Given the description of an element on the screen output the (x, y) to click on. 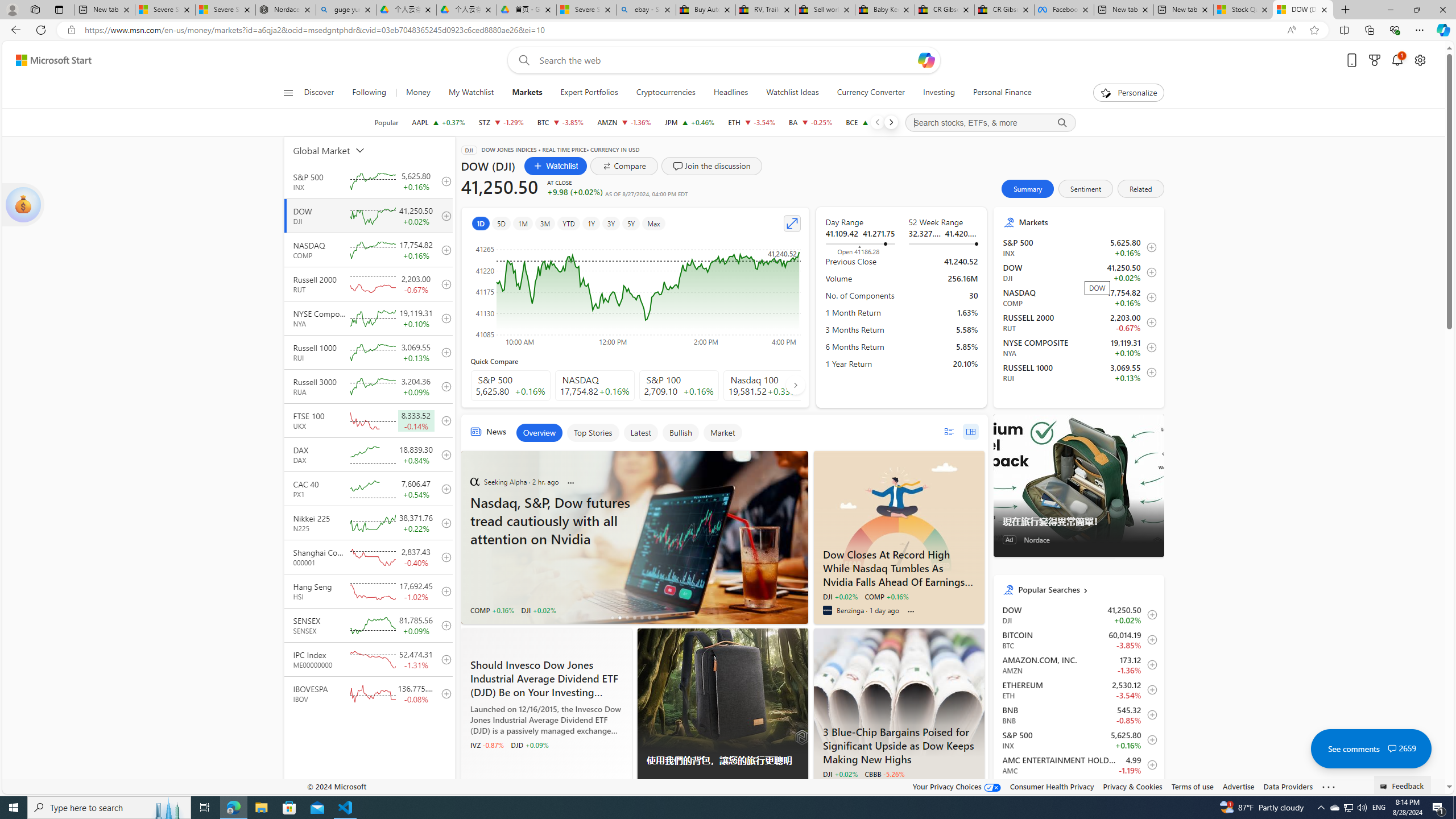
JPM JPMORGAN CHASE & CO. increase 220.18 +1.01 +0.46% (690, 122)
Cryptocurrencies (665, 92)
DJI DOW increase 41,250.50 +9.98 +0.02% itemundefined (1078, 614)
Compare (623, 166)
Class: notInWatclistIcon-DS-EntryPoint1-6 lightTheme (1148, 790)
Class: oneFooter_seeMore-DS-EntryPoint1-1 (1328, 786)
BNB BNB decrease 545.32 -4.62 -0.85% itemundefined (1078, 714)
ETH Ethereum decrease 2,530.12 -89.57 -3.54% itemundefined (1078, 689)
AMZN AMAZON.COM, INC. decrease 173.12 -2.38 -1.36% (623, 122)
